Given the description of an element on the screen output the (x, y) to click on. 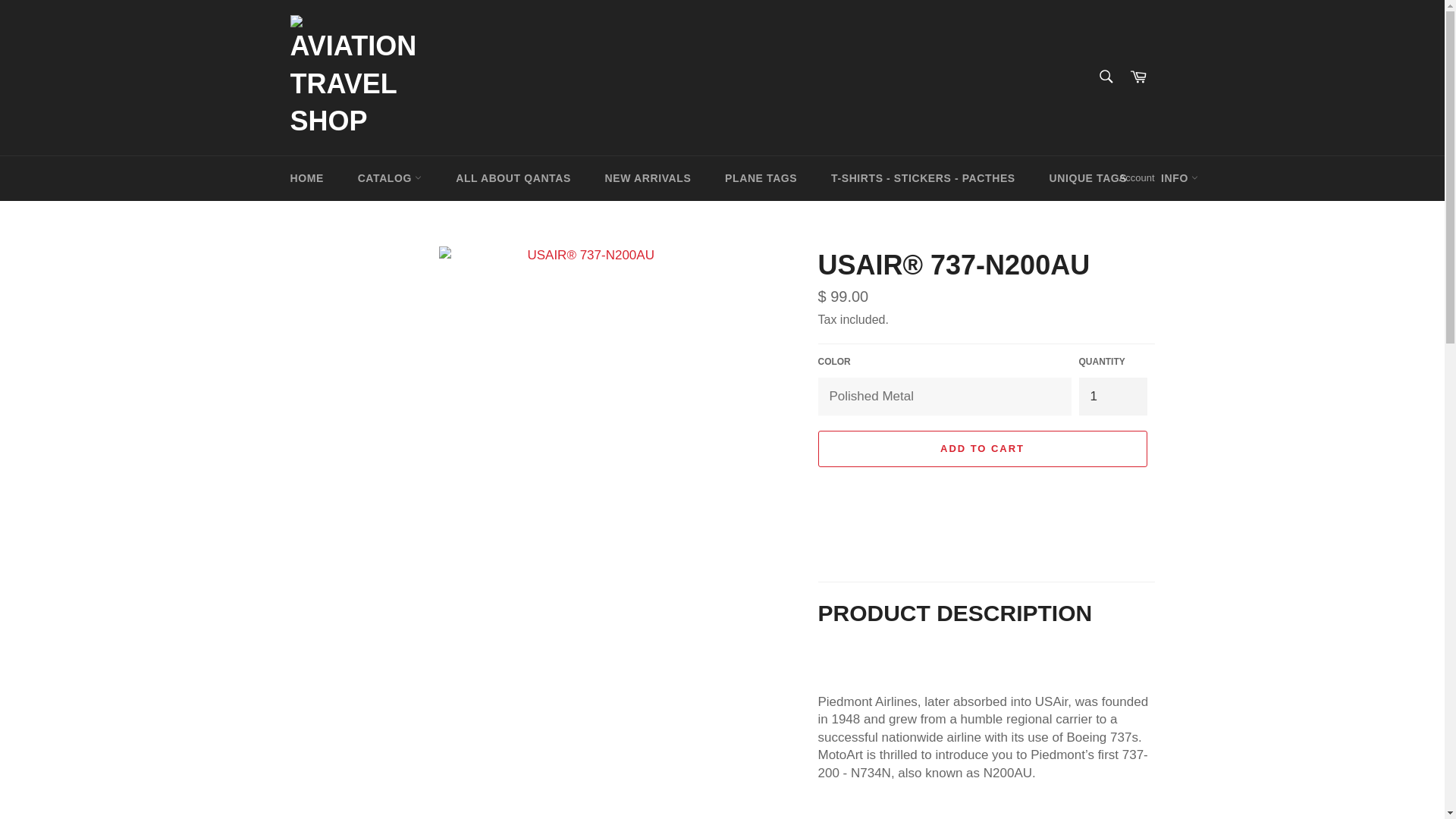
1 (1112, 395)
